Given the description of an element on the screen output the (x, y) to click on. 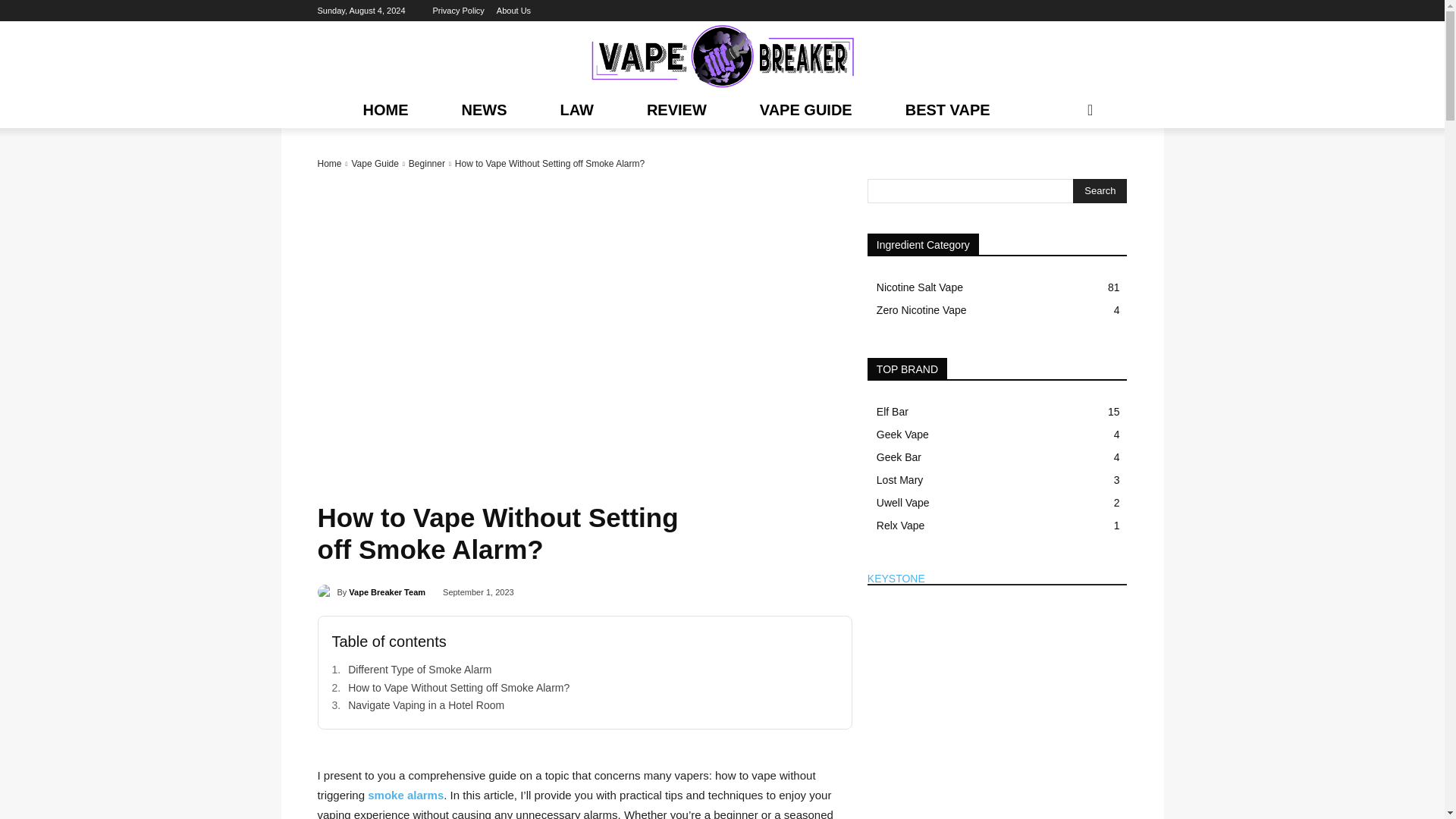
About Us (513, 10)
Vape Breaker (722, 56)
Vape Breaker (721, 56)
NEWS (482, 109)
Privacy Policy (457, 10)
HOME (384, 109)
